Given the description of an element on the screen output the (x, y) to click on. 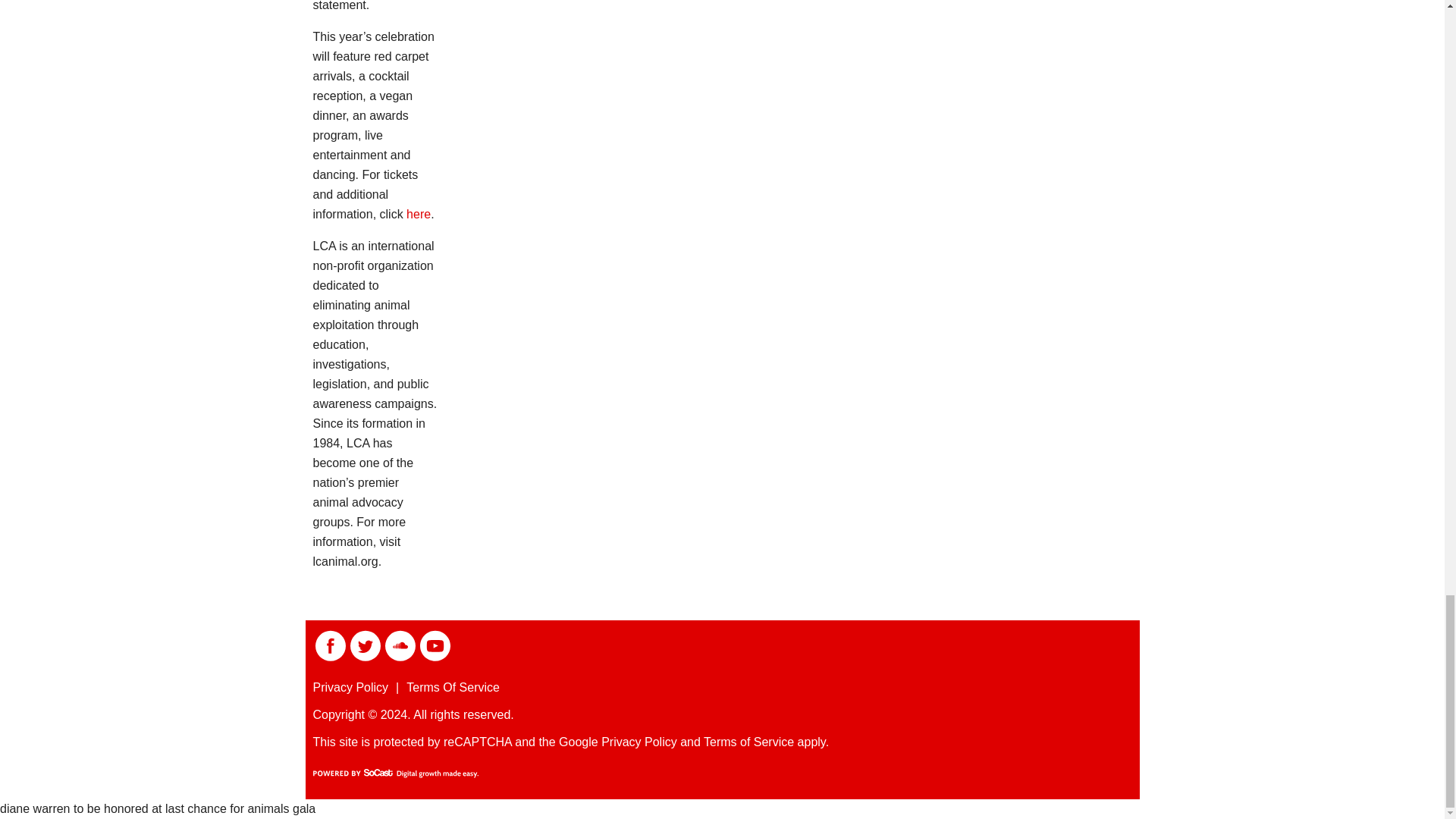
Powered By SoCast (395, 773)
here (418, 214)
